Given the description of an element on the screen output the (x, y) to click on. 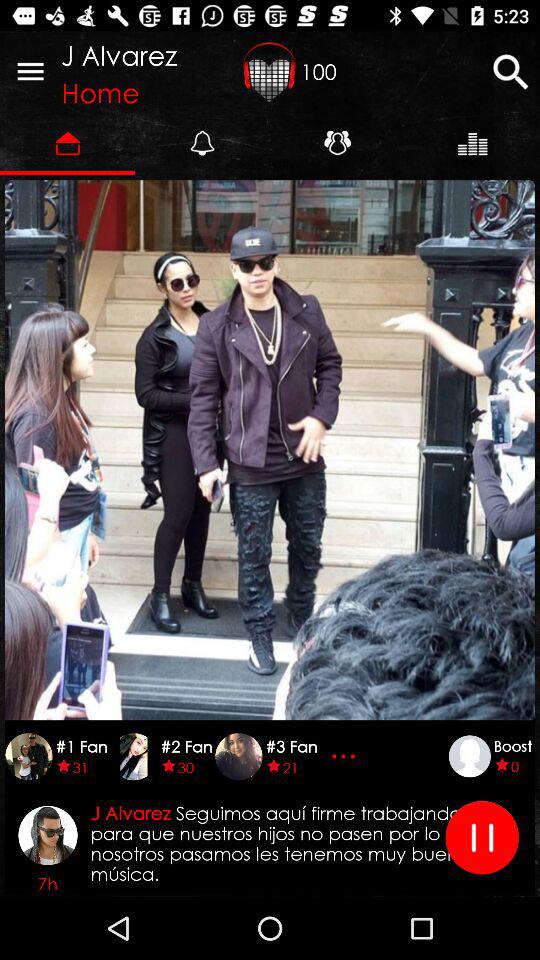
pause (482, 837)
